Given the description of an element on the screen output the (x, y) to click on. 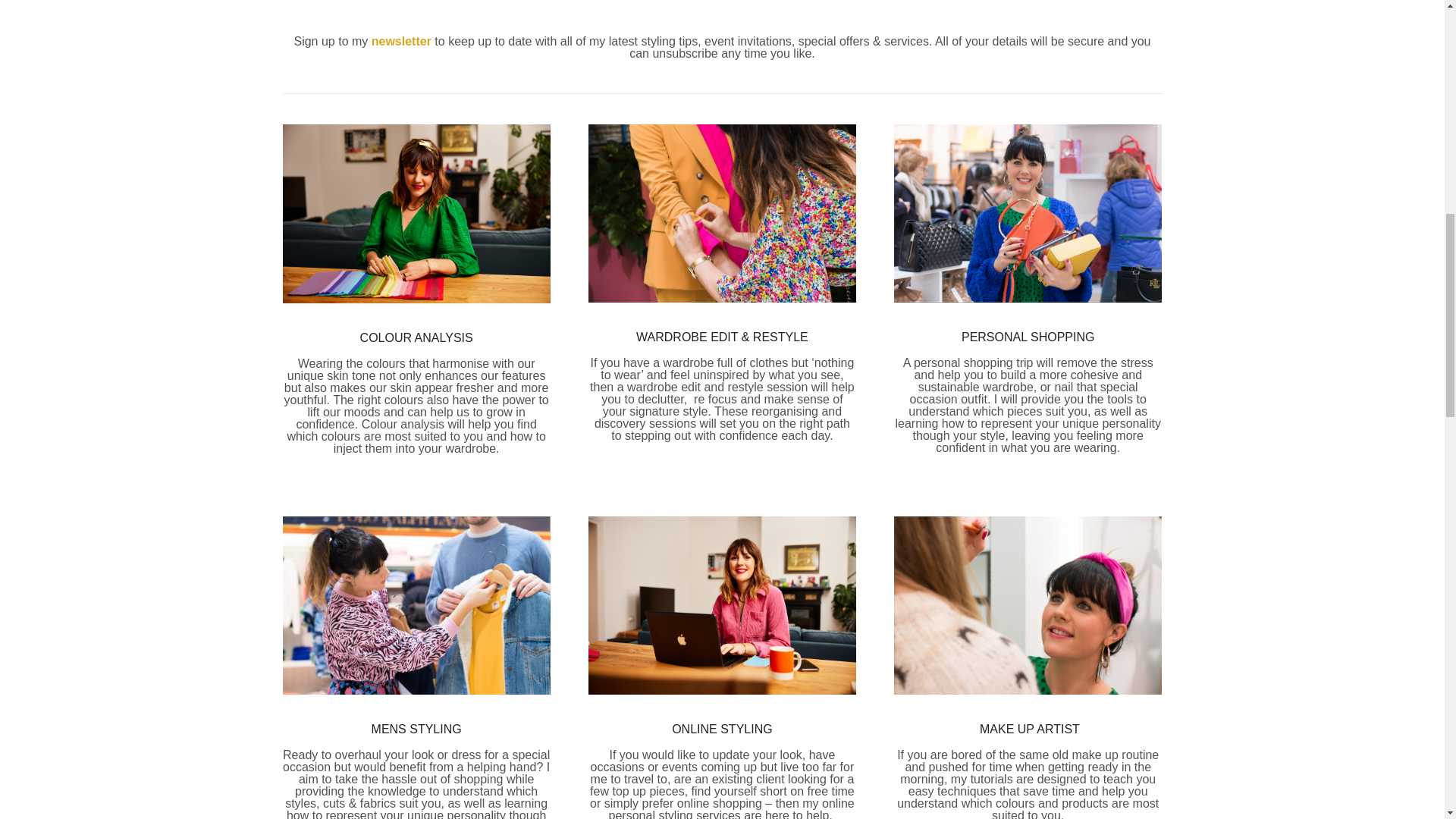
newsletter (400, 41)
